Given the description of an element on the screen output the (x, y) to click on. 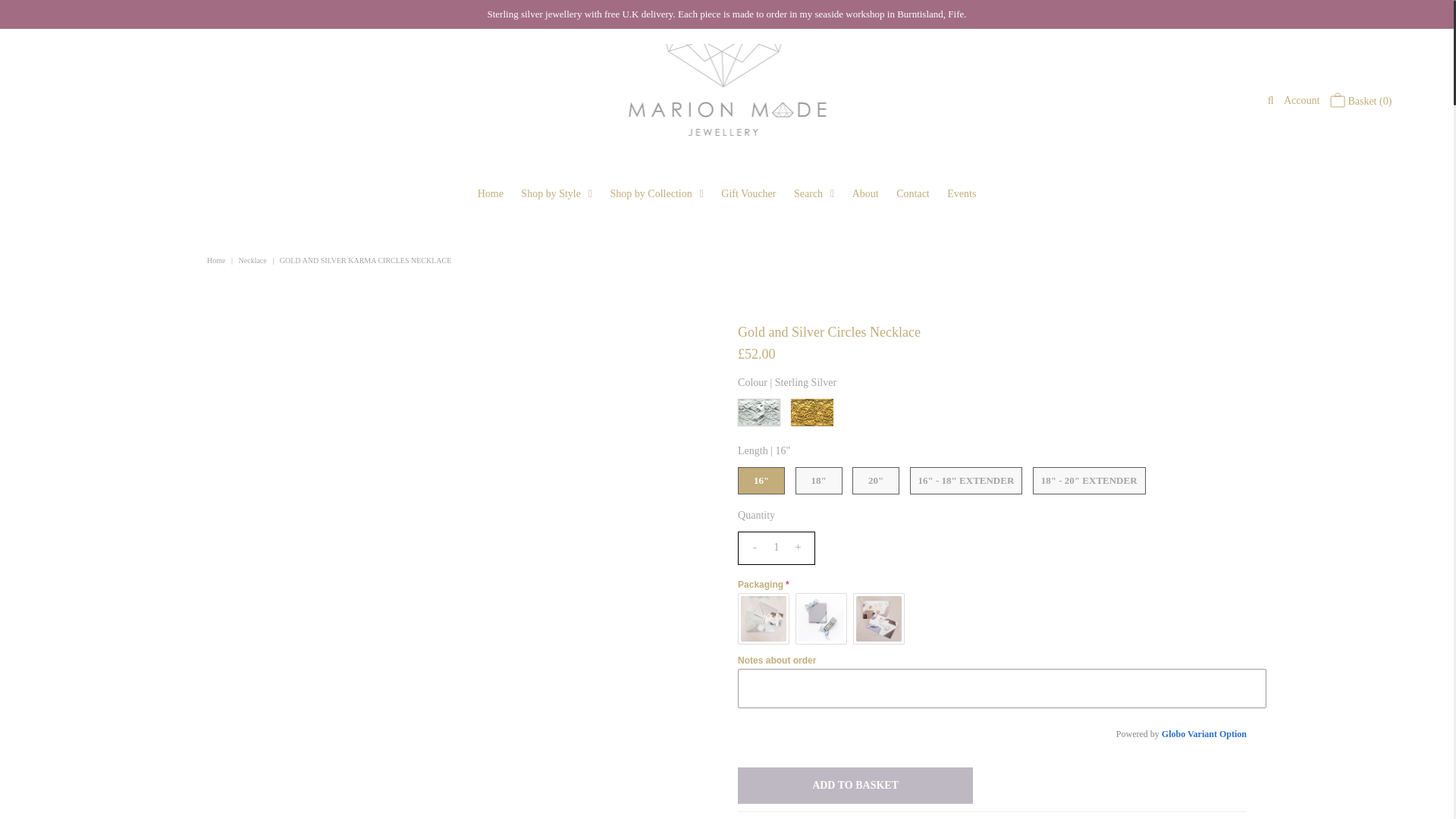
Add to basket (855, 785)
1 (776, 547)
Account (1301, 100)
Necklace (254, 260)
Home (217, 260)
